Given the description of an element on the screen output the (x, y) to click on. 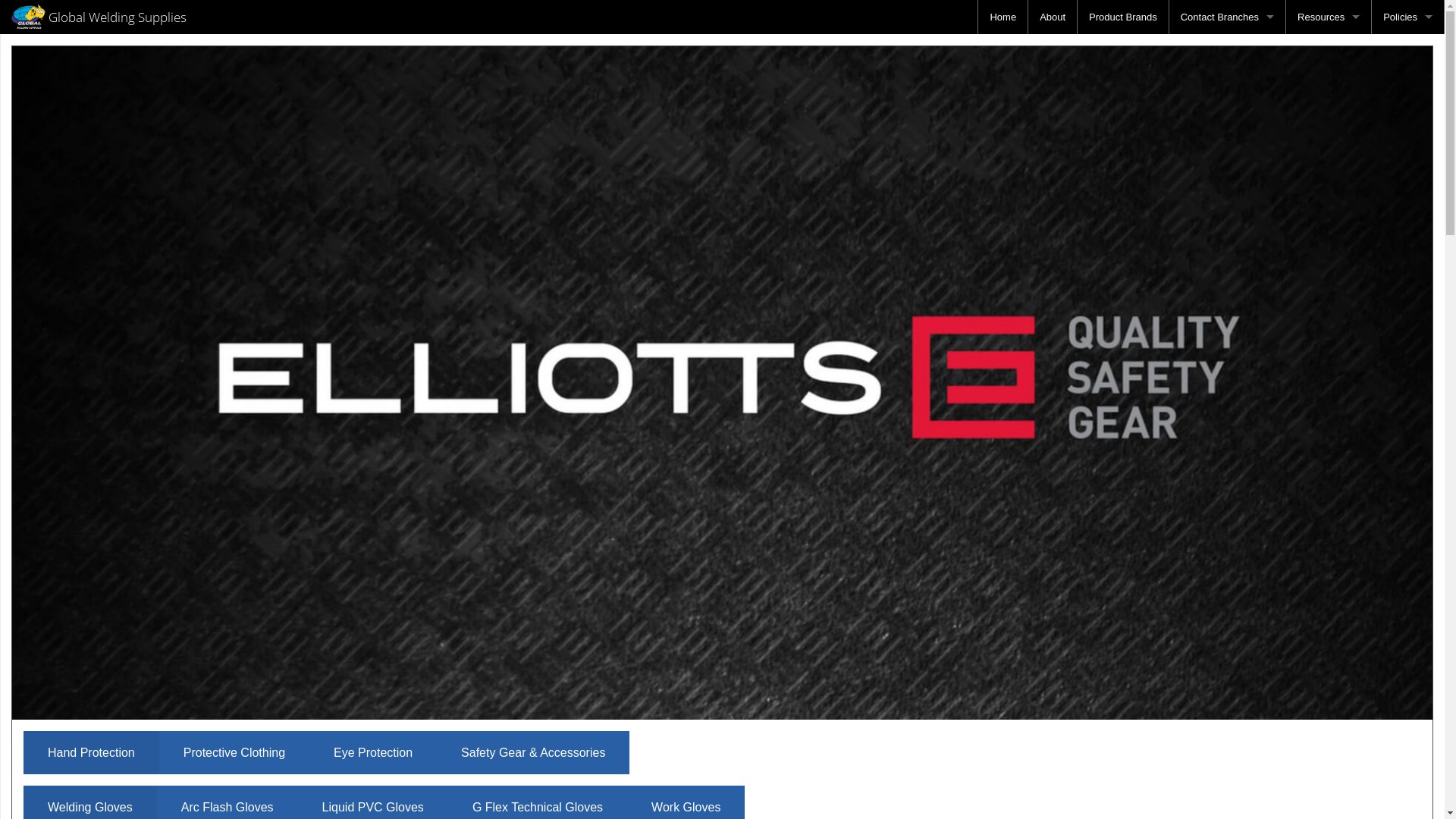
Technical Statement & Quality Assurance Element type: text (1407, 187)
Website Terms of Use Policy Element type: text (1407, 119)
About Element type: text (1052, 17)
Eye Protection Element type: text (372, 753)
Policies Element type: text (1407, 17)
Contact Branches Element type: text (1227, 17)
Mt Isa Element type: text (1227, 85)
Downloads Element type: text (1328, 85)
Refund & Return Policy Element type: text (1407, 85)
Global Welding Supplies Element type: text (98, 17)
Brisbane Element type: text (1227, 51)
Cairns Element type: text (1227, 221)
Safety Gear & Accessories Element type: text (532, 753)
Privacy Policy Element type: text (1407, 51)
Mackay Element type: text (1227, 153)
Home Element type: text (1002, 17)
Resources Element type: text (1328, 17)
Townsville Element type: text (1227, 187)
Product Catalogues Element type: text (1243, 85)
Trading Account Element type: text (1328, 51)
Gladstone Element type: text (1227, 119)
Protective Clothing Element type: text (234, 753)
Product Brands Element type: text (1122, 17)
Hand Protection Element type: text (91, 753)
Sales Terms & Conditions Element type: text (1407, 153)
